Given the description of an element on the screen output the (x, y) to click on. 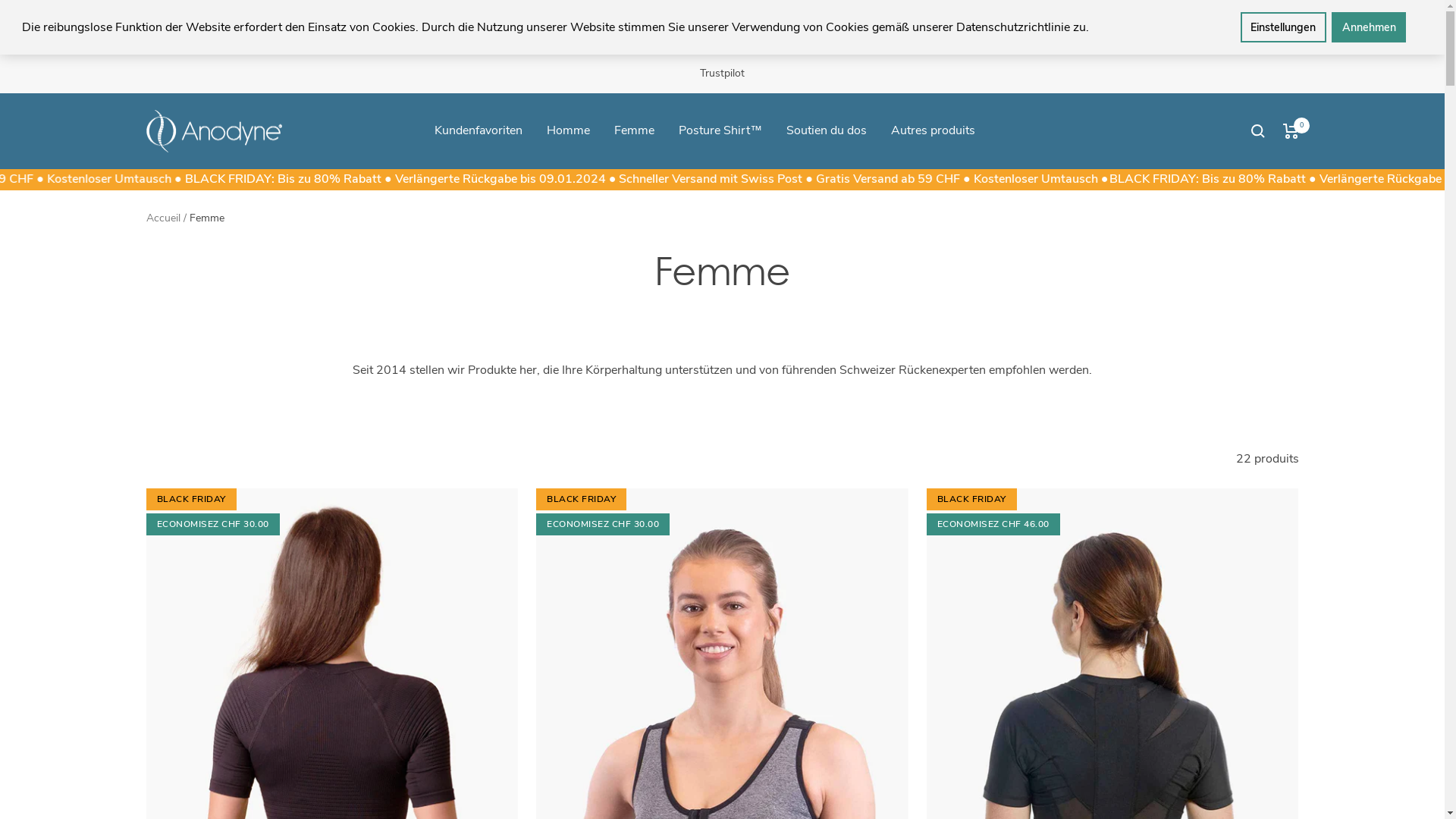
Kundenfavoriten Element type: text (478, 130)
0 Element type: text (1291, 130)
Soutien du dos Element type: text (826, 130)
Femme Element type: text (634, 130)
Homme Element type: text (567, 130)
Accueil Element type: text (162, 217)
Autres produits Element type: text (933, 130)
Einstellungen Element type: text (1283, 27)
Annehmen Element type: text (1368, 27)
Anodyne.ch Element type: text (213, 131)
Trustpilot Element type: text (721, 72)
